Given the description of an element on the screen output the (x, y) to click on. 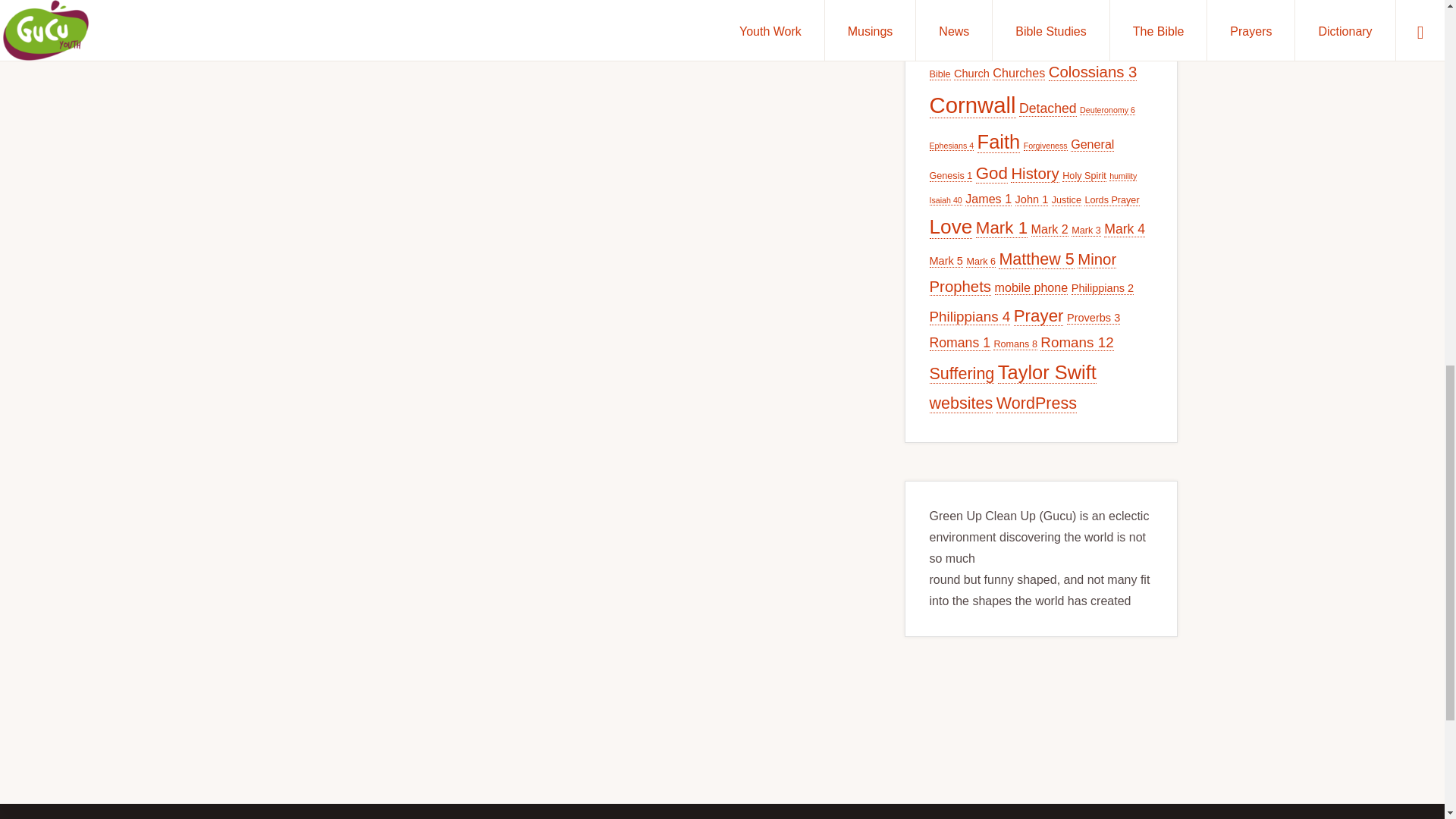
1 Corinthians 13 (981, 45)
